Given the description of an element on the screen output the (x, y) to click on. 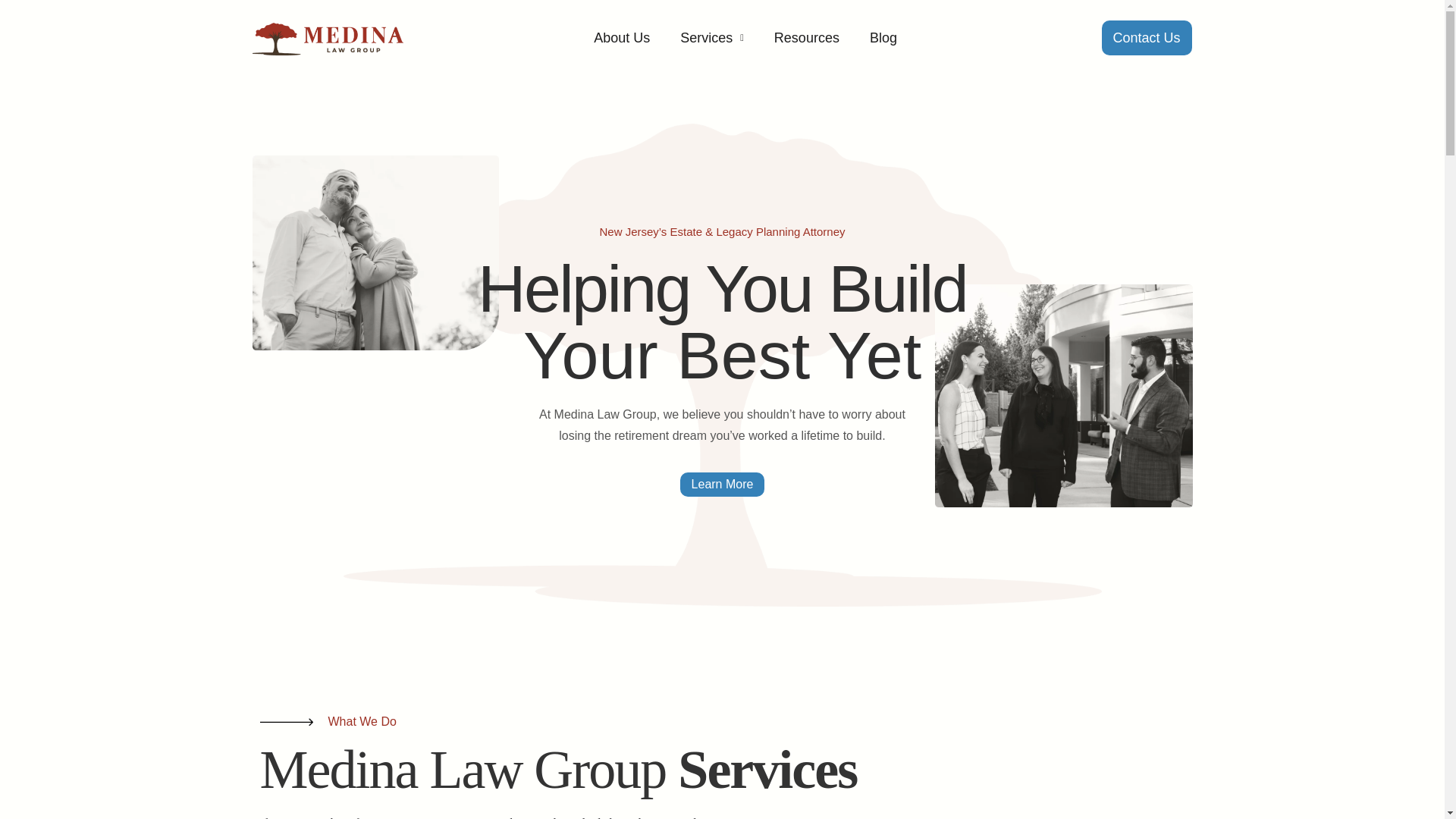
Resources (806, 37)
Services (711, 37)
About Us (621, 37)
Blog (883, 37)
